Given the description of an element on the screen output the (x, y) to click on. 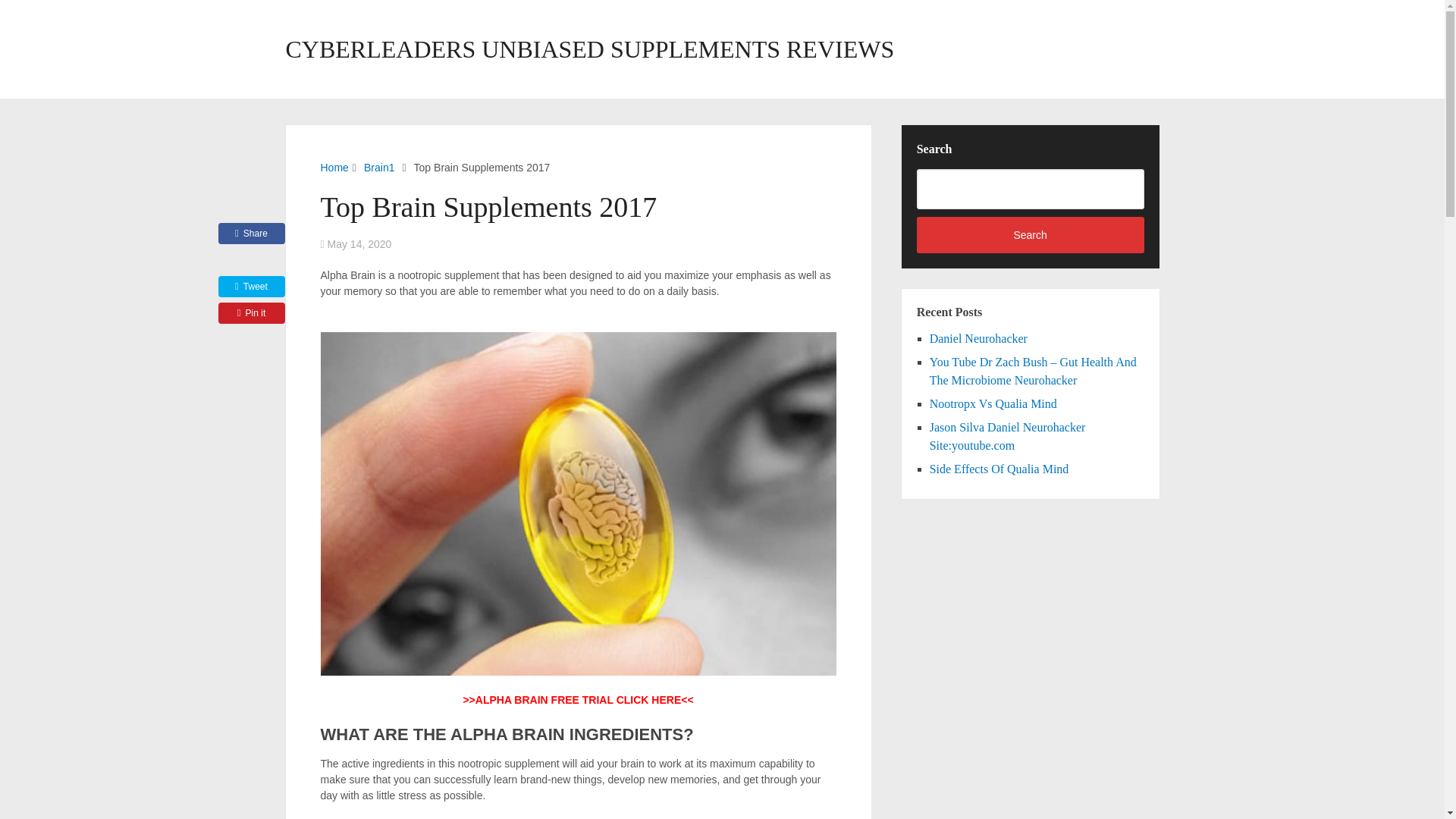
Nootropx Vs Qualia Mind (993, 403)
Side Effects Of Qualia Mind (999, 468)
Daniel Neurohacker (978, 338)
Share (251, 233)
Tweet (251, 286)
Jason Silva Daniel Neurohacker Site:youtube.com (1008, 436)
Home (333, 167)
Brain1 (379, 167)
CYBERLEADERS UNBIASED SUPPLEMENTS REVIEWS (589, 48)
Search (1030, 235)
